Given the description of an element on the screen output the (x, y) to click on. 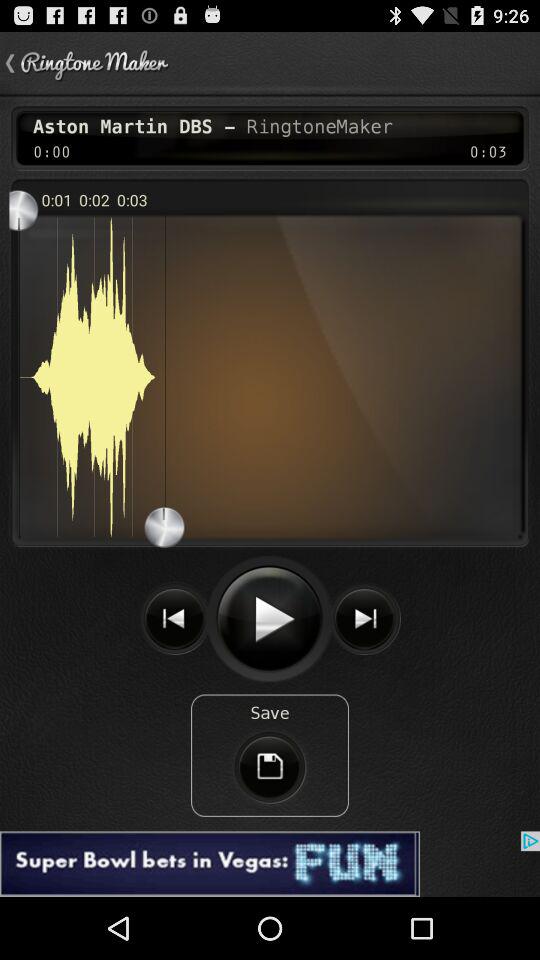
see the advertisement (270, 864)
